Given the description of an element on the screen output the (x, y) to click on. 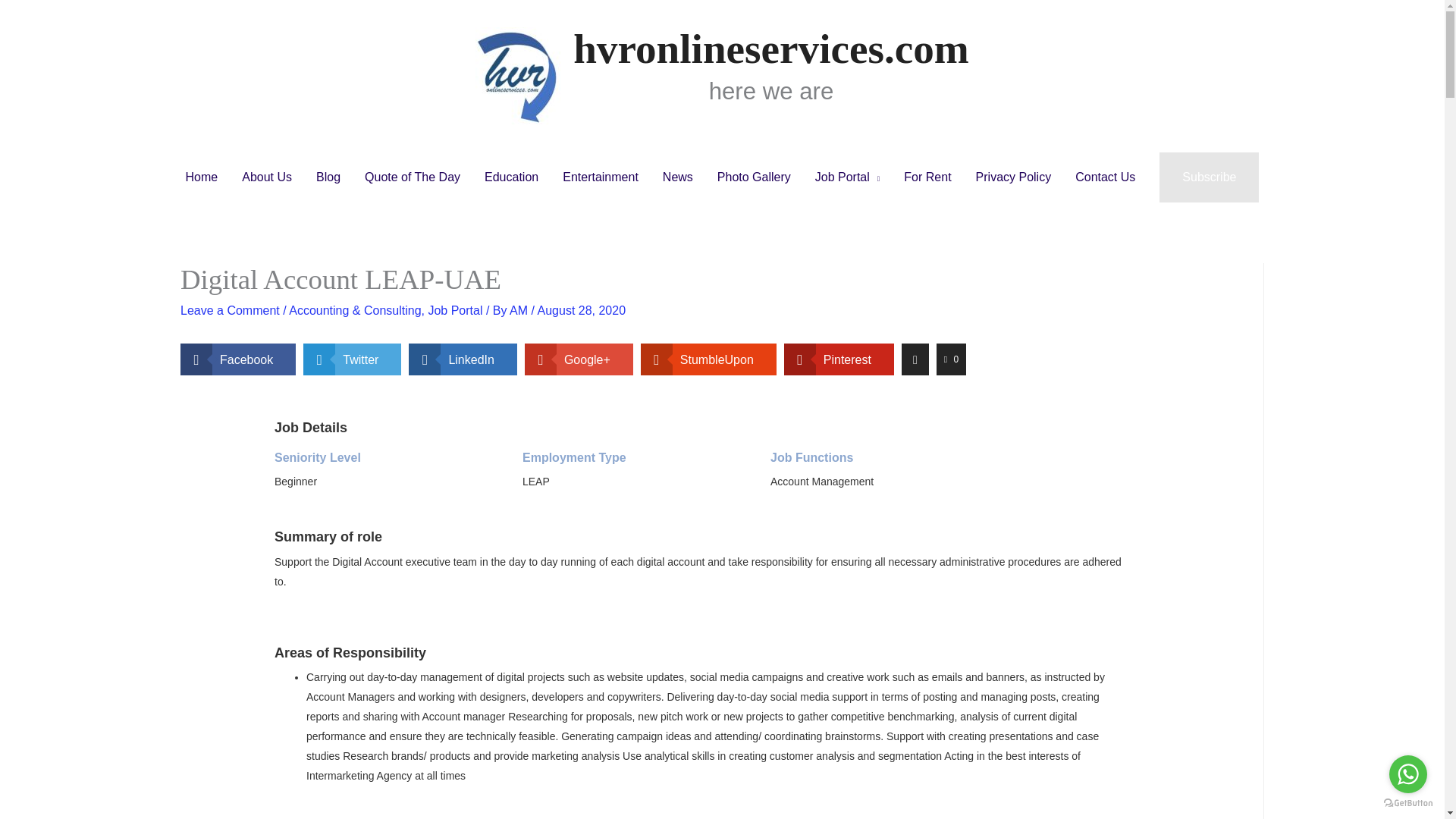
Job Portal (454, 309)
Home (201, 177)
AM (520, 309)
Education (510, 177)
Entertainment (600, 177)
News (677, 177)
Job Portal (847, 177)
Twitter (351, 359)
Quote of The Day (411, 177)
Contact Us (1104, 177)
